Given the description of an element on the screen output the (x, y) to click on. 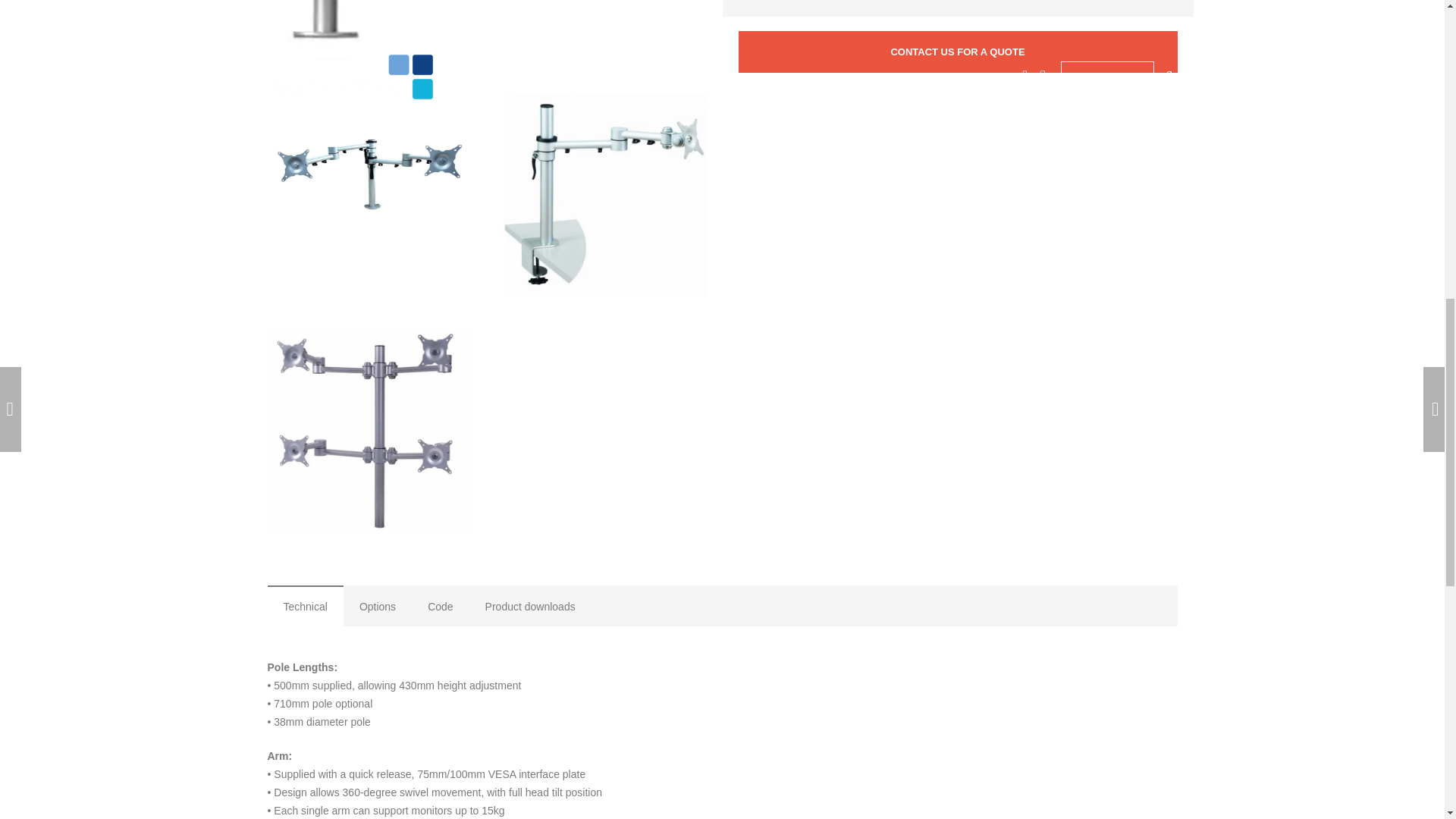
Code (440, 605)
Options (377, 605)
CONTACT US FOR A QUOTE (957, 52)
Back to top (1413, 26)
Product downloads (529, 605)
Technical (304, 605)
